Given the description of an element on the screen output the (x, y) to click on. 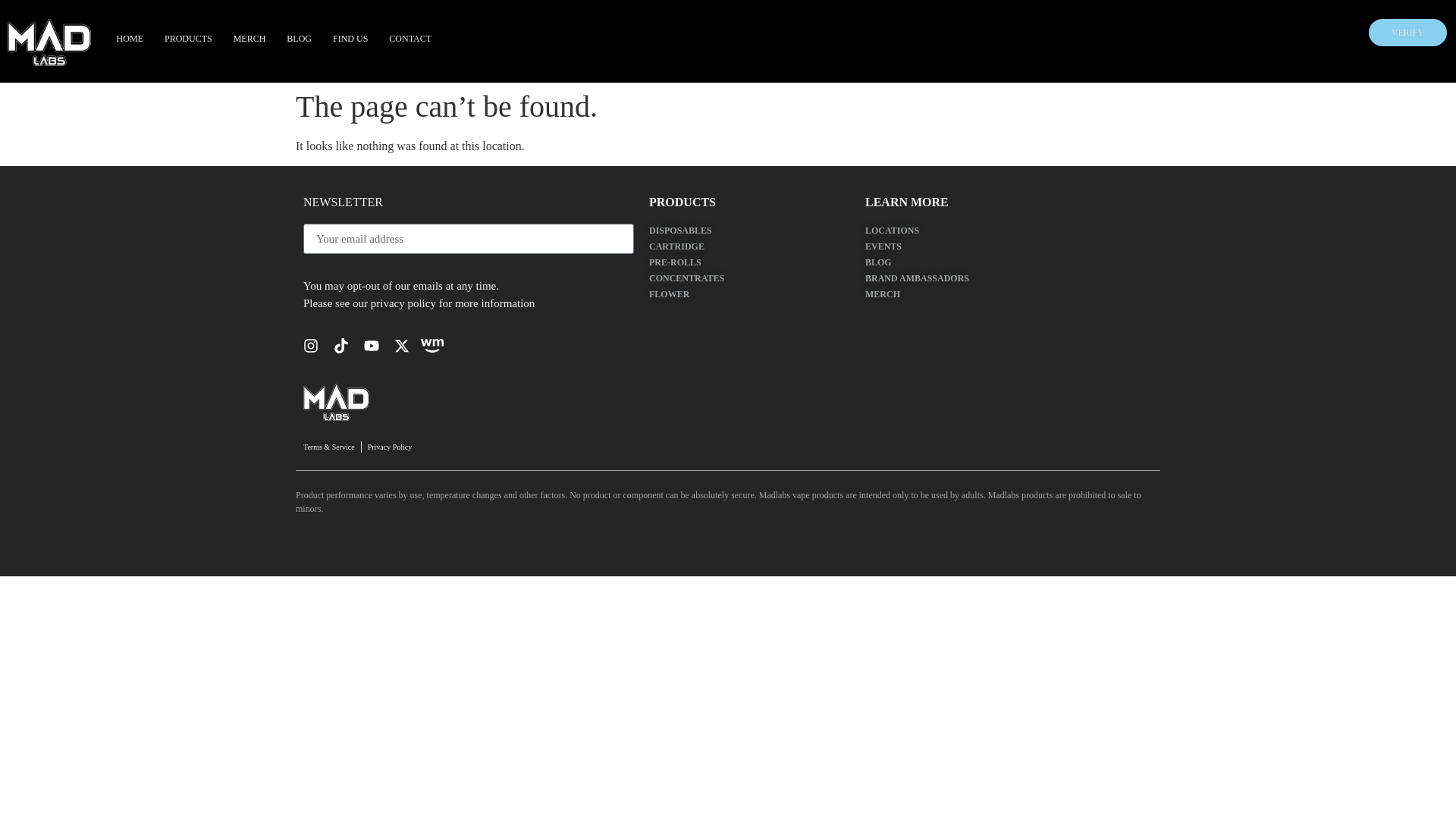
PRODUCTS (188, 38)
VERIFY (1407, 31)
CONTACT (410, 38)
BLOG (298, 38)
HOME (130, 38)
MERCH (249, 38)
FIND US (349, 38)
